Given the description of an element on the screen output the (x, y) to click on. 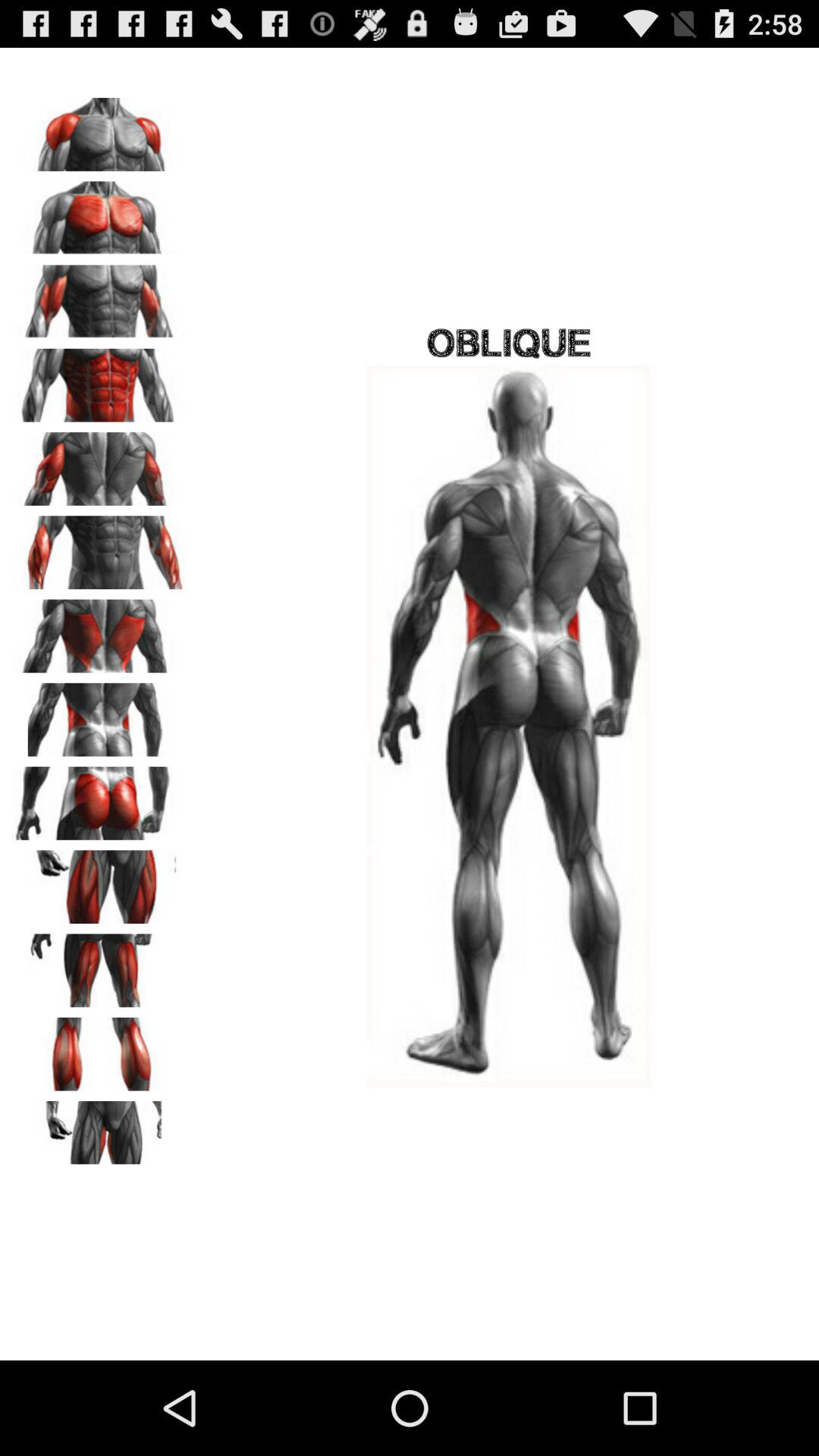
view muscle group (99, 881)
